Given the description of an element on the screen output the (x, y) to click on. 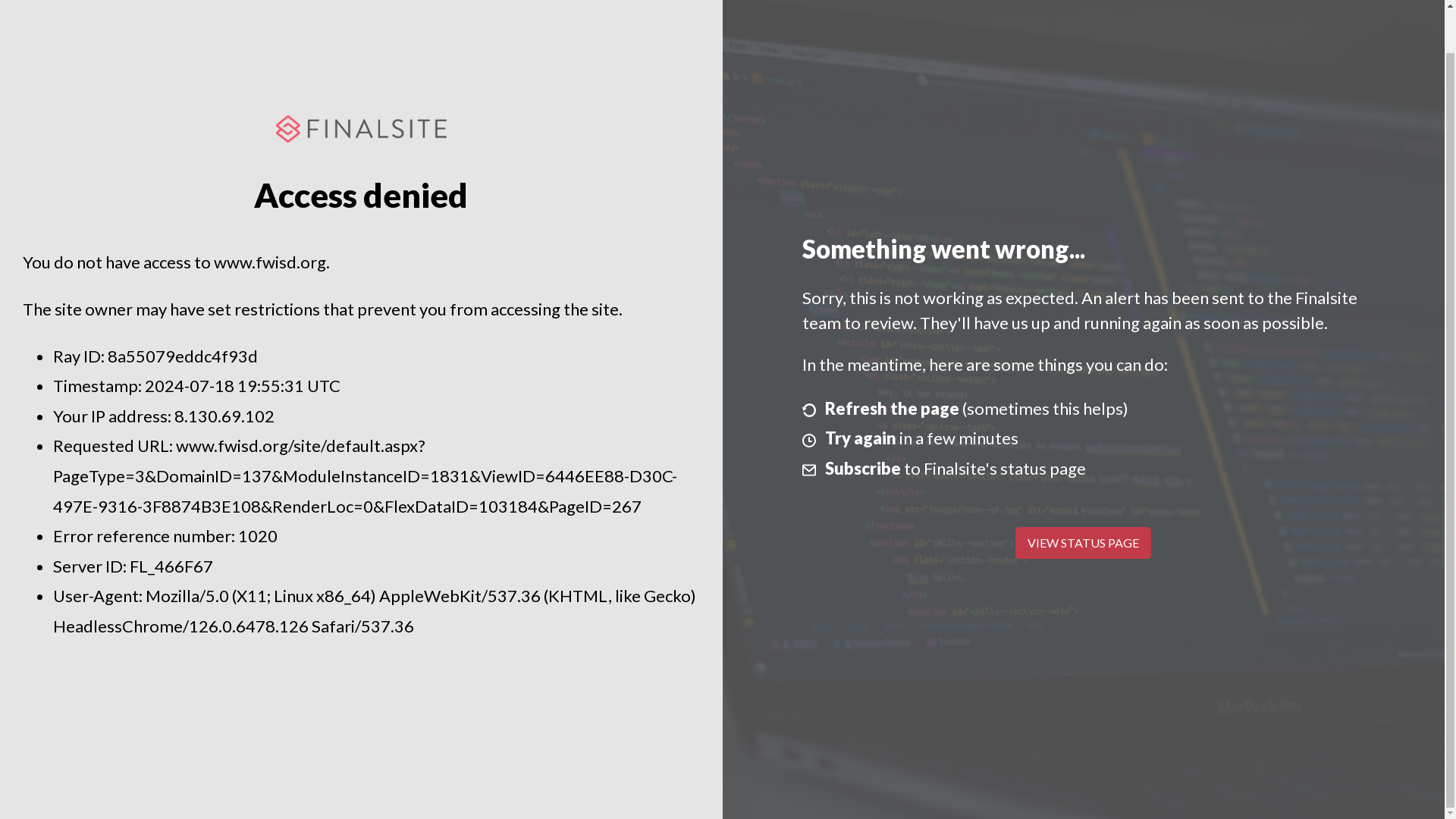
VIEW STATUS PAGE (1082, 542)
